Given the description of an element on the screen output the (x, y) to click on. 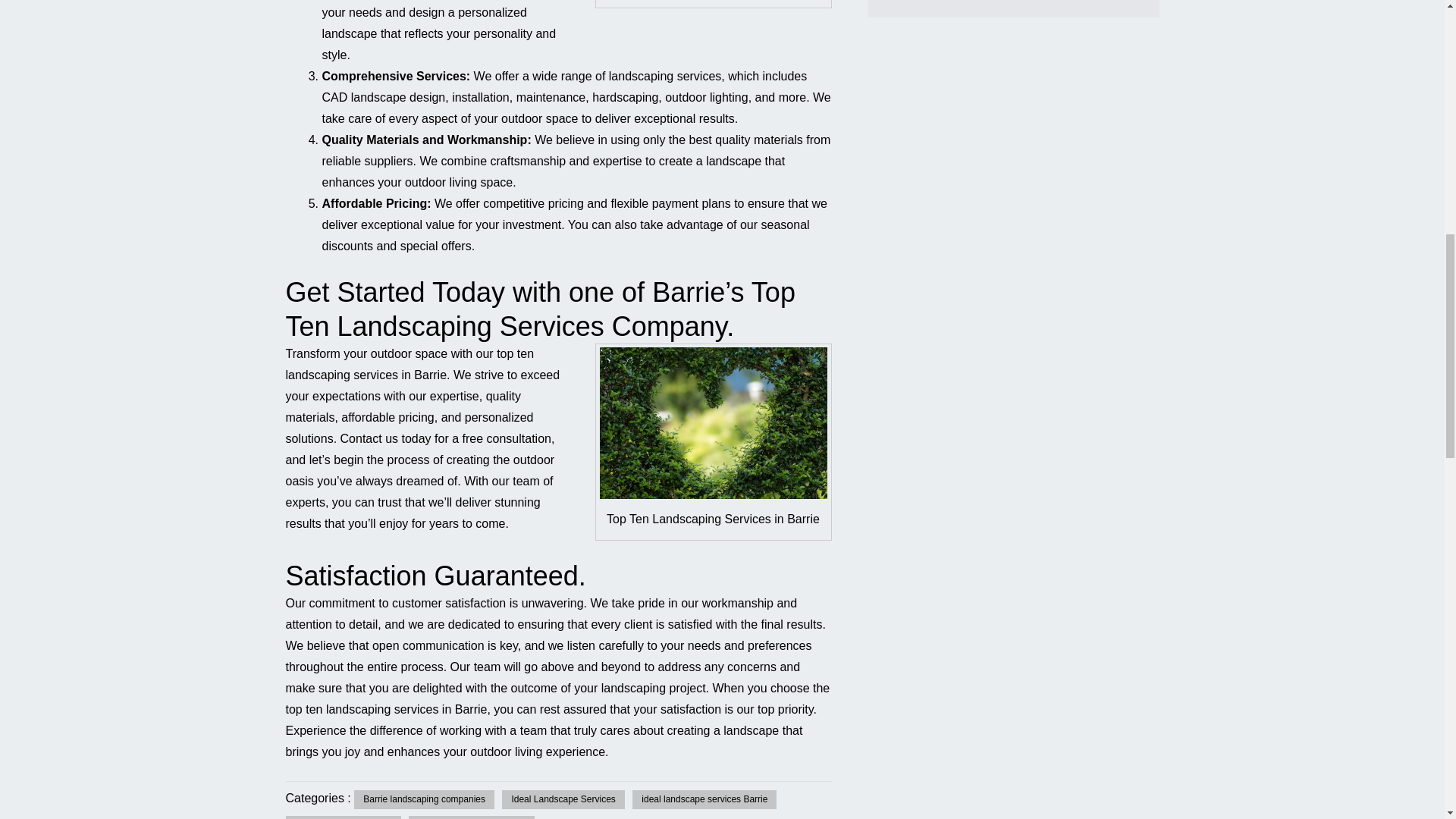
landscaping Barrie Ontario (471, 817)
Barrie landscaping companies (424, 799)
outdoor lighting (706, 97)
CAD landscape design (383, 97)
ideal landscaping Barrie (342, 817)
Free consultation (507, 438)
Ideal Landscape Services (563, 799)
CAD landscape design (383, 97)
ideal landscape services Barrie (703, 799)
Outdoor Lighting (706, 97)
free consultation (507, 438)
